Given the description of an element on the screen output the (x, y) to click on. 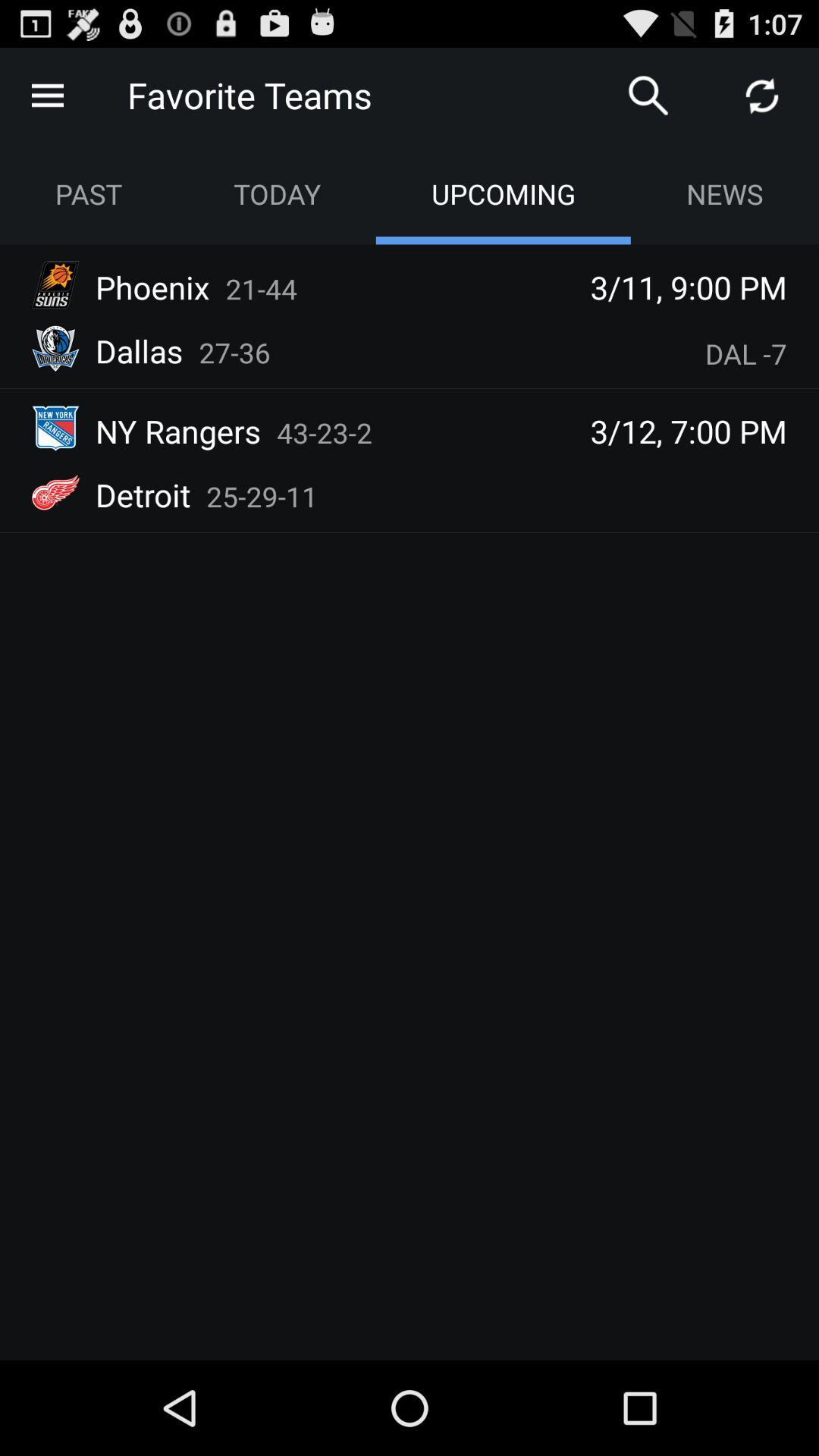
open menu (47, 95)
